Given the description of an element on the screen output the (x, y) to click on. 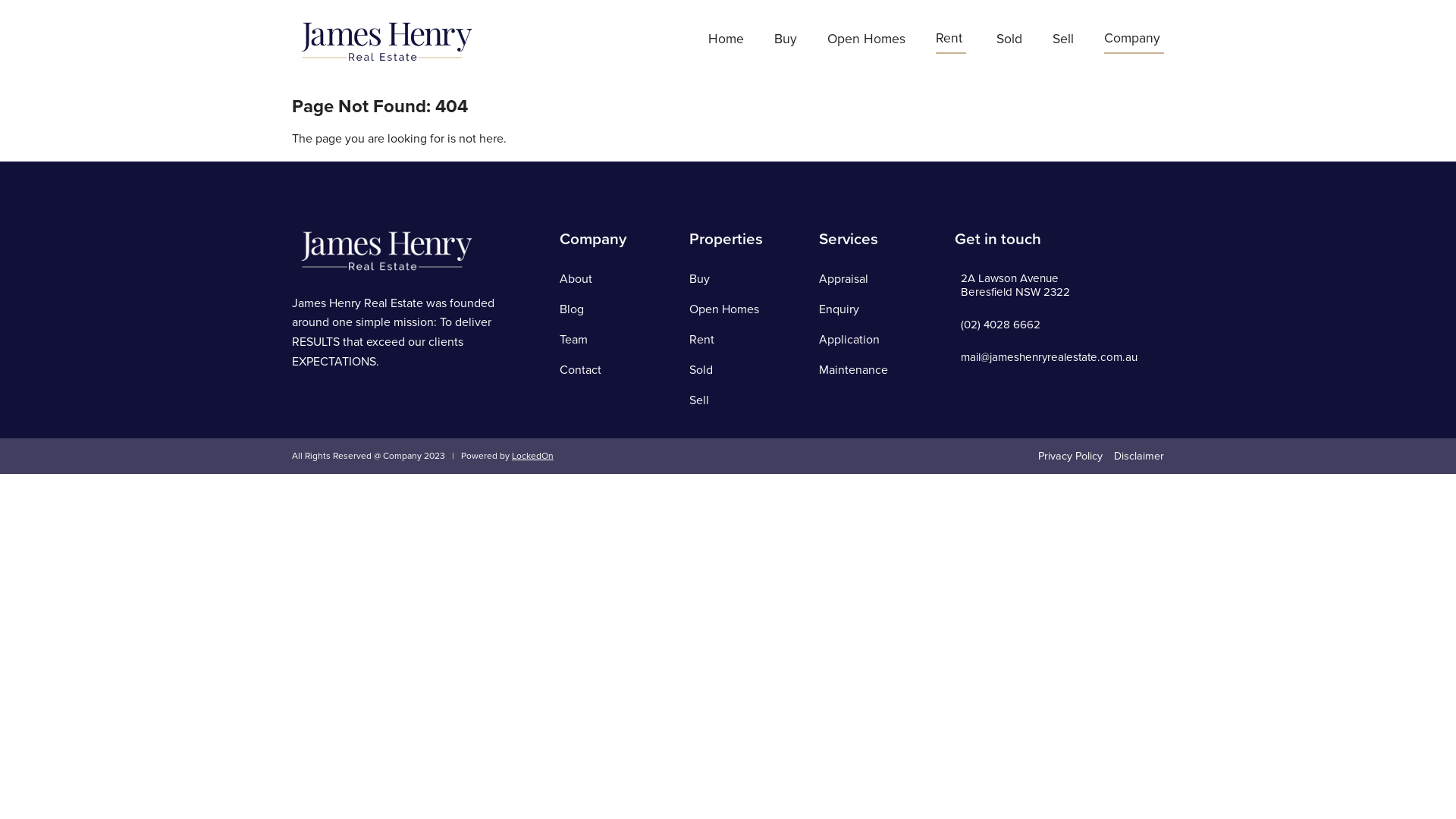
Open Homes Element type: text (866, 41)
Home Element type: text (725, 41)
Buy Element type: text (699, 278)
Rent Element type: text (701, 339)
About Element type: text (575, 278)
Sell Element type: text (699, 399)
Contact Element type: text (580, 369)
Enquiry Element type: text (839, 308)
LockedOn Element type: text (532, 455)
Privacy Policy Element type: text (1070, 455)
mail@jameshenryrealestate.com.au Element type: text (1048, 357)
Sold Element type: text (1009, 41)
Sold Element type: text (700, 369)
Sell Element type: text (1062, 41)
Disclaimer Element type: text (1138, 455)
Maintenance Element type: text (853, 369)
Team Element type: text (573, 339)
Appraisal Element type: text (843, 278)
Blog Element type: text (571, 308)
Open Homes Element type: text (724, 308)
Application Element type: text (849, 339)
(02) 4028 6662 Element type: text (1000, 324)
Buy Element type: text (785, 41)
